Given the description of an element on the screen output the (x, y) to click on. 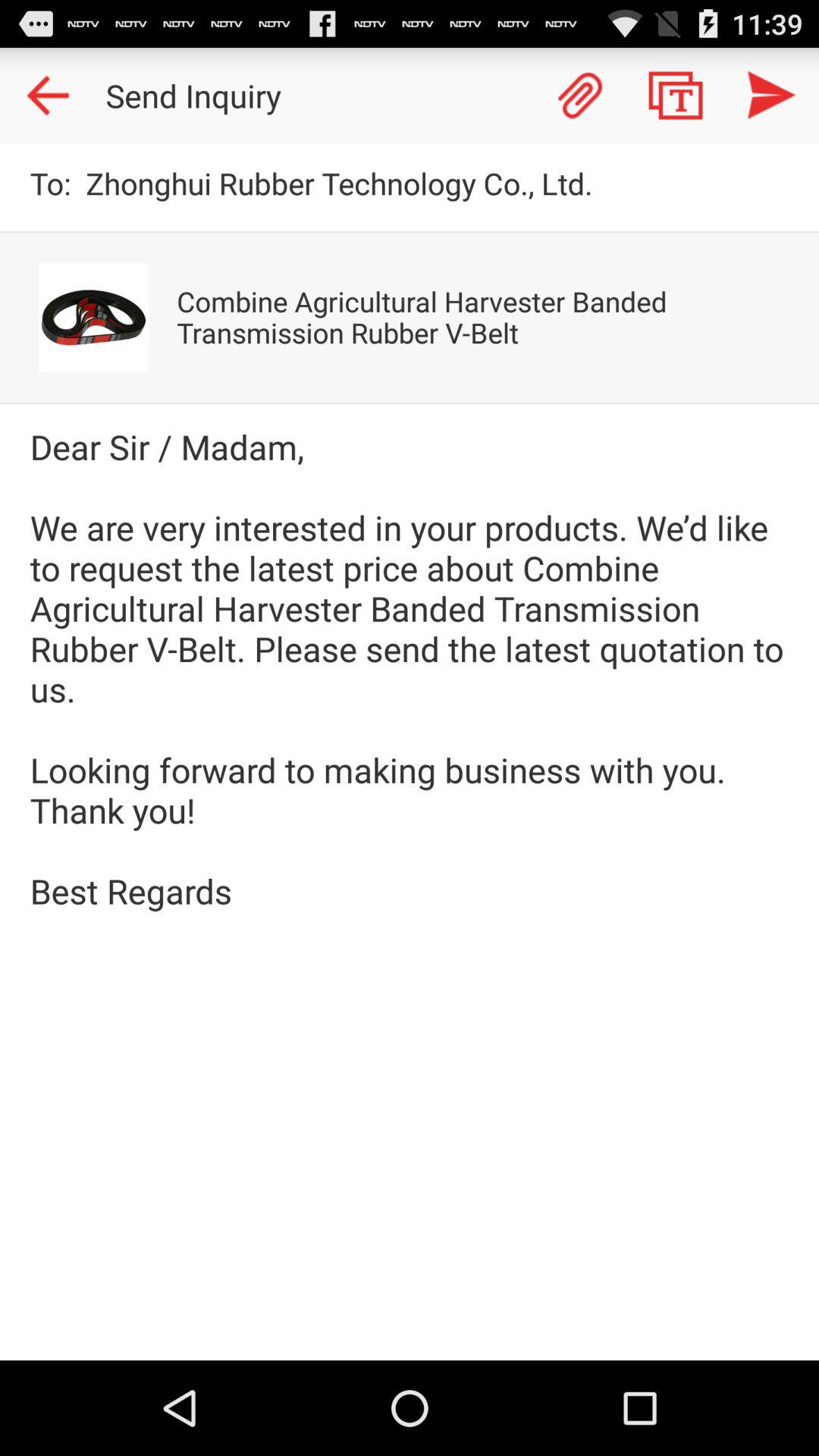
choose attachment option (579, 95)
